Given the description of an element on the screen output the (x, y) to click on. 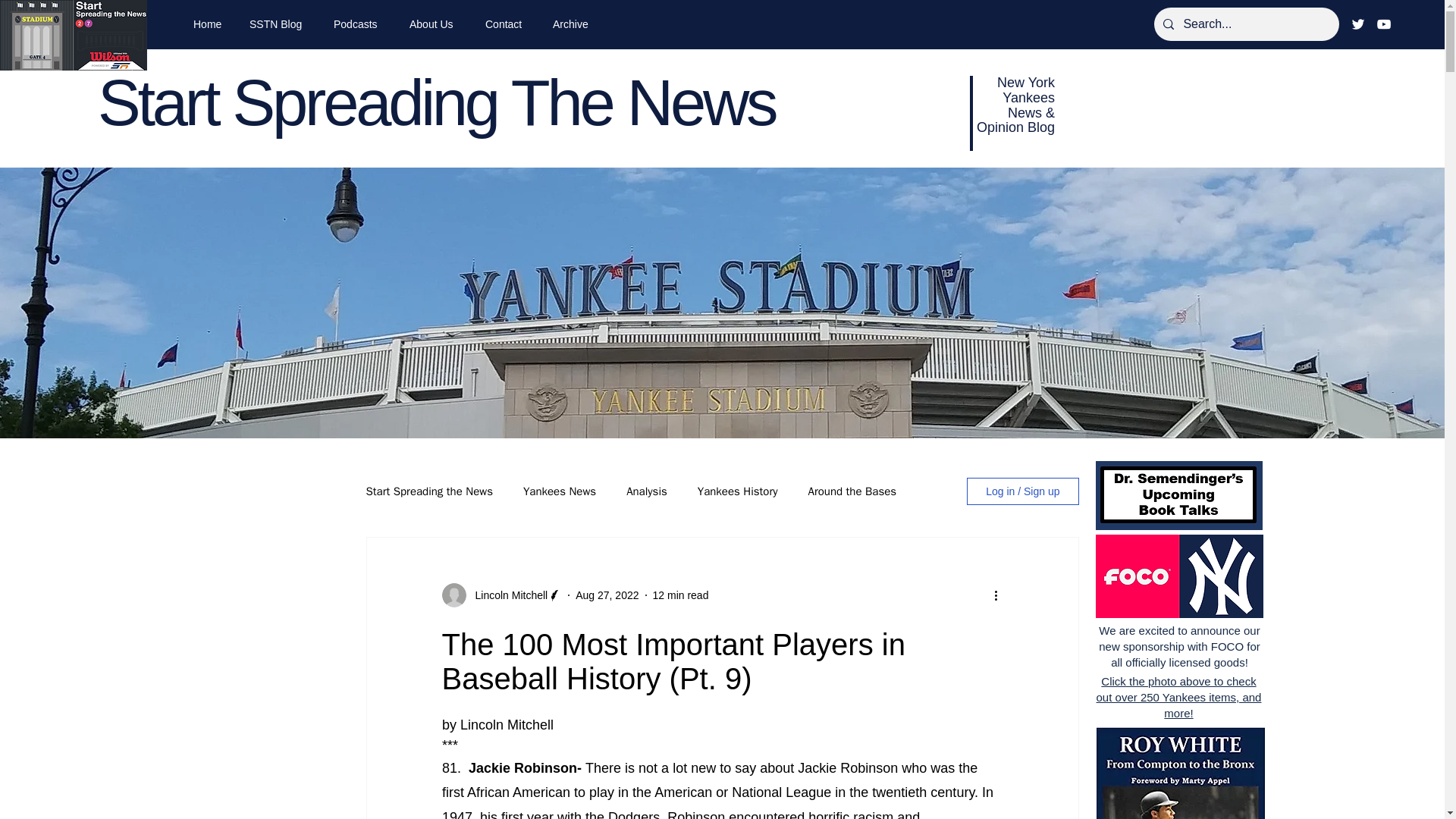
SSTN Blog (279, 24)
Analysis (646, 490)
12 min read (680, 594)
Yankees History (737, 490)
Lincoln Mitchell (506, 594)
Aug 27, 2022 (607, 594)
Start Spreading The News (435, 102)
Podcasts (359, 24)
Around the Bases (852, 490)
Contact (507, 24)
Home (210, 24)
Start Spreading the News (428, 490)
Yankees News (558, 490)
About Us (435, 24)
Archive (574, 24)
